Given the description of an element on the screen output the (x, y) to click on. 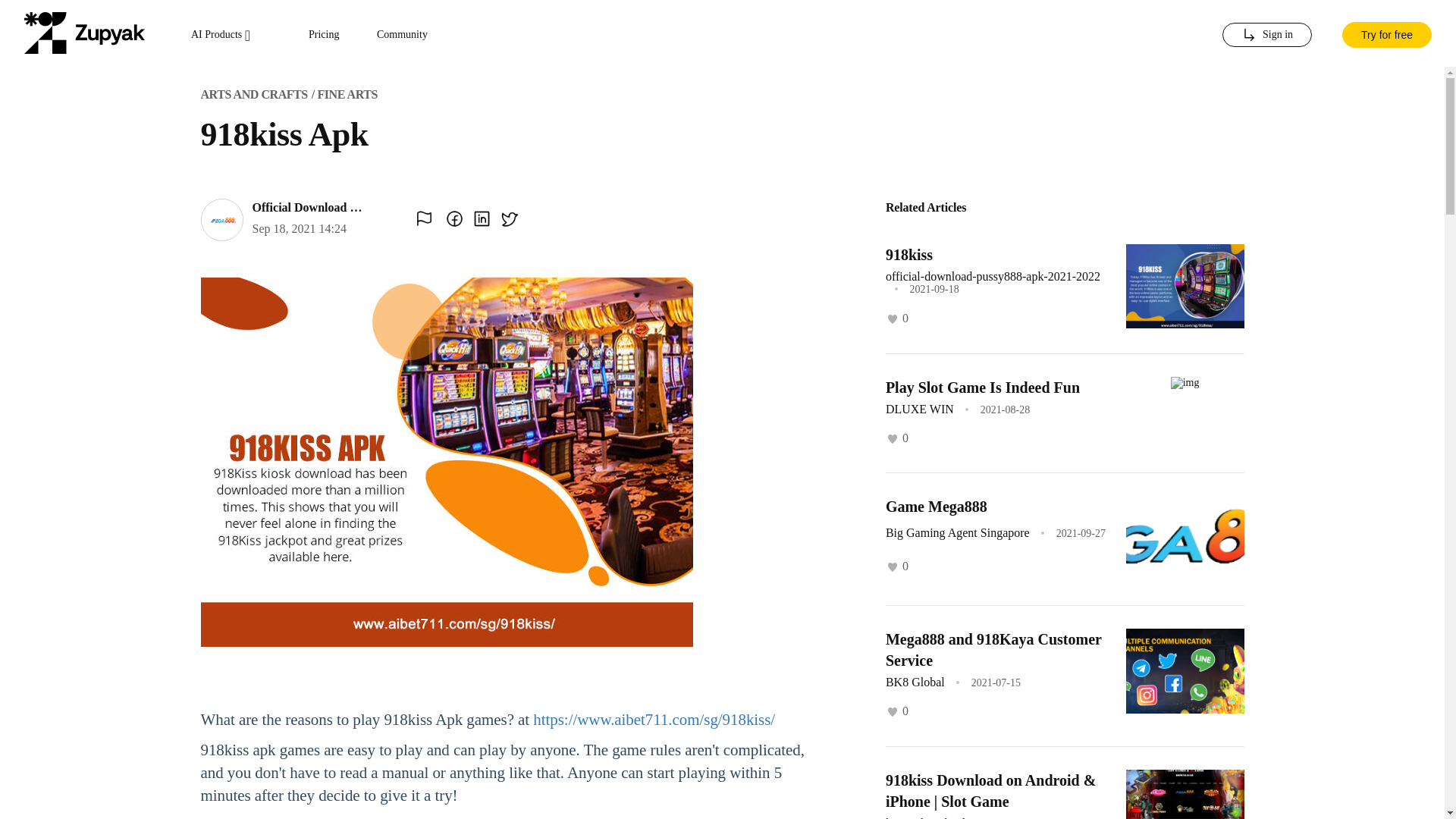
Community (402, 34)
918kiss (909, 254)
 Sign in (1267, 34)
Mega888 and 918Kaya Customer Service (993, 649)
ARTS AND CRAFTS (253, 93)
Pricing (323, 34)
FINE ARTS (347, 93)
Play Slot Game Is Indeed Fun (982, 387)
Game Mega888 (936, 506)
Try for free (1386, 33)
